Given the description of an element on the screen output the (x, y) to click on. 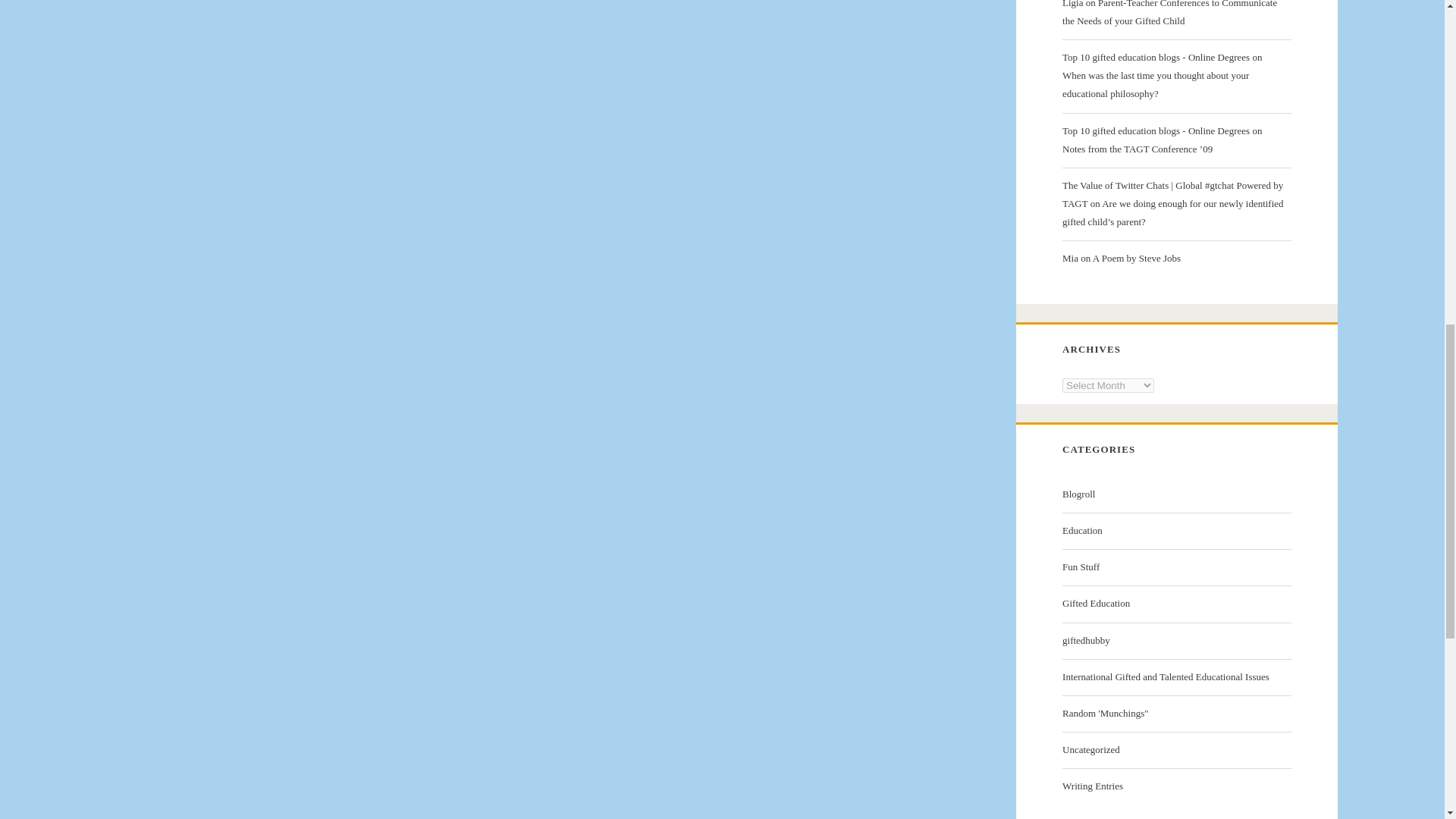
Top 10 gifted education blogs - Online Degrees (1155, 57)
Ligia (1072, 4)
Top 10 gifted education blogs - Online Degrees (1155, 129)
A Poem by Steve Jobs (1136, 257)
